Given the description of an element on the screen output the (x, y) to click on. 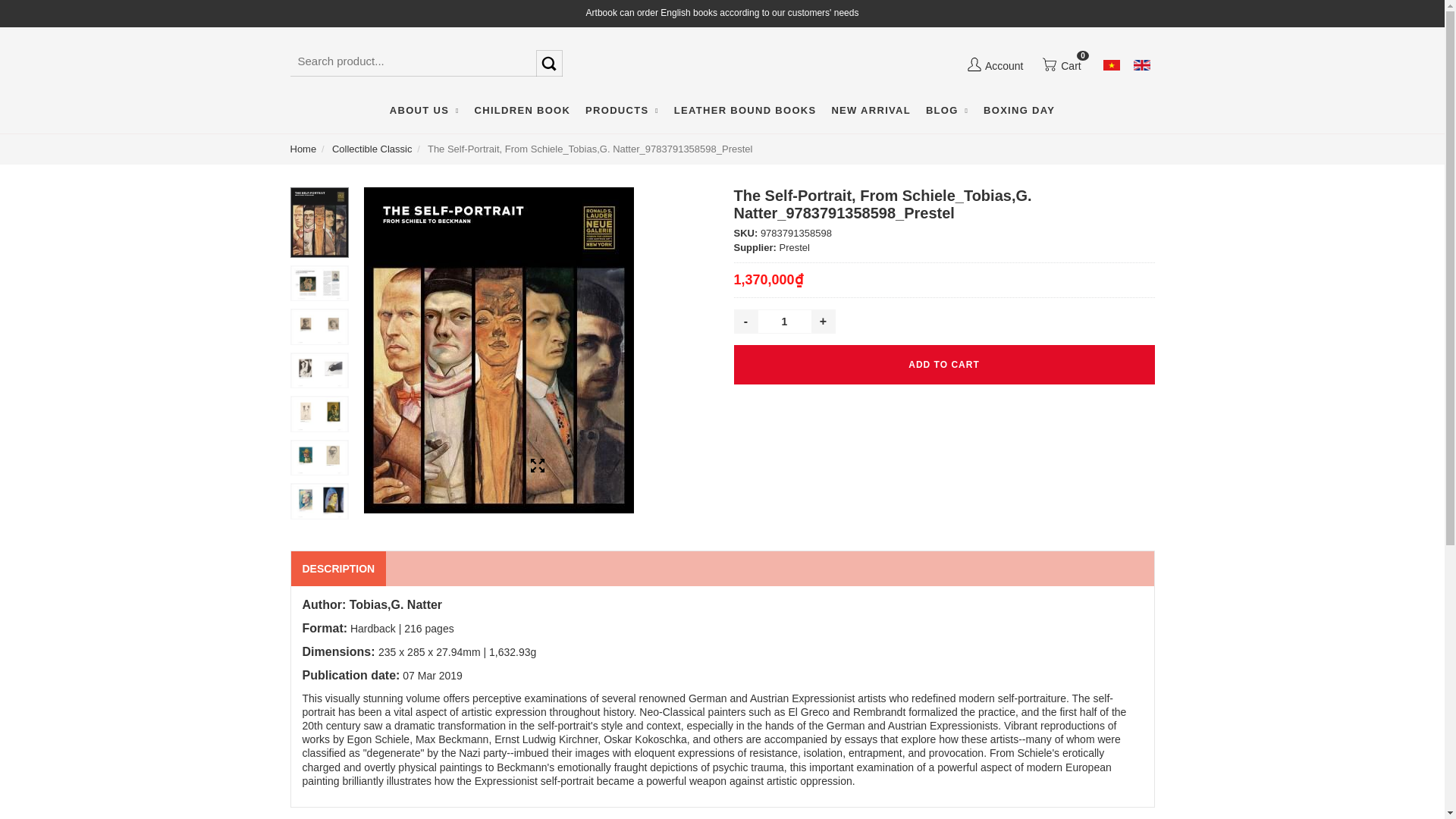
Books (641, 146)
Books (641, 146)
Vietnamese Cuisine (755, 154)
1 (784, 321)
Architecture (755, 146)
Architecture (755, 146)
Account (994, 65)
CHILDREN BOOK (522, 110)
- (745, 321)
Stores (446, 146)
